Given the description of an element on the screen output the (x, y) to click on. 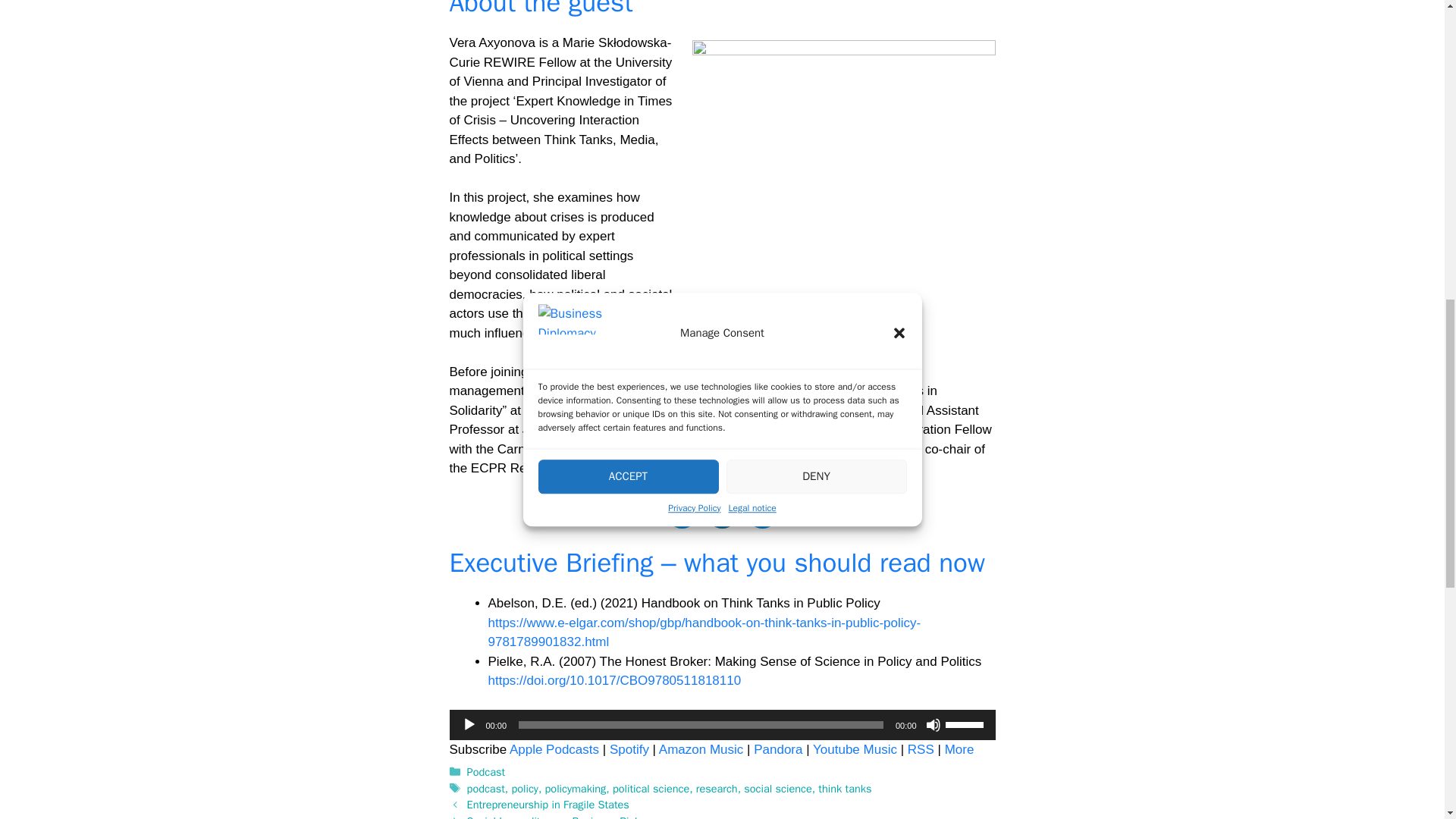
Subscribe on Spotify (629, 749)
Subscribe on Youtube Music (854, 749)
Subscribe on Amazon Music (700, 749)
Subscribe on Apple Podcasts (553, 749)
More (959, 749)
Subscribe on Pandora (778, 749)
Subscribe via RSS (920, 749)
Play (468, 724)
Mute (932, 724)
